Given the description of an element on the screen output the (x, y) to click on. 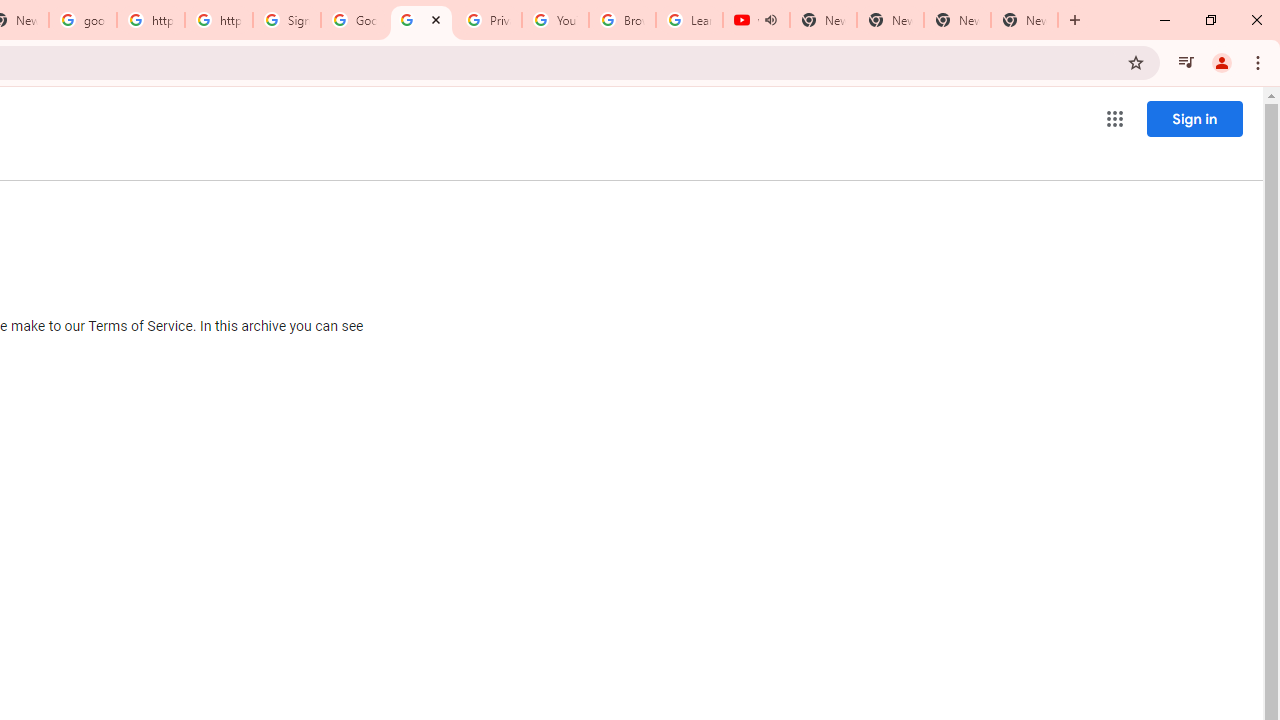
https://scholar.google.com/ (219, 20)
Sign in - Google Accounts (287, 20)
YouTube (555, 20)
